Given the description of an element on the screen output the (x, y) to click on. 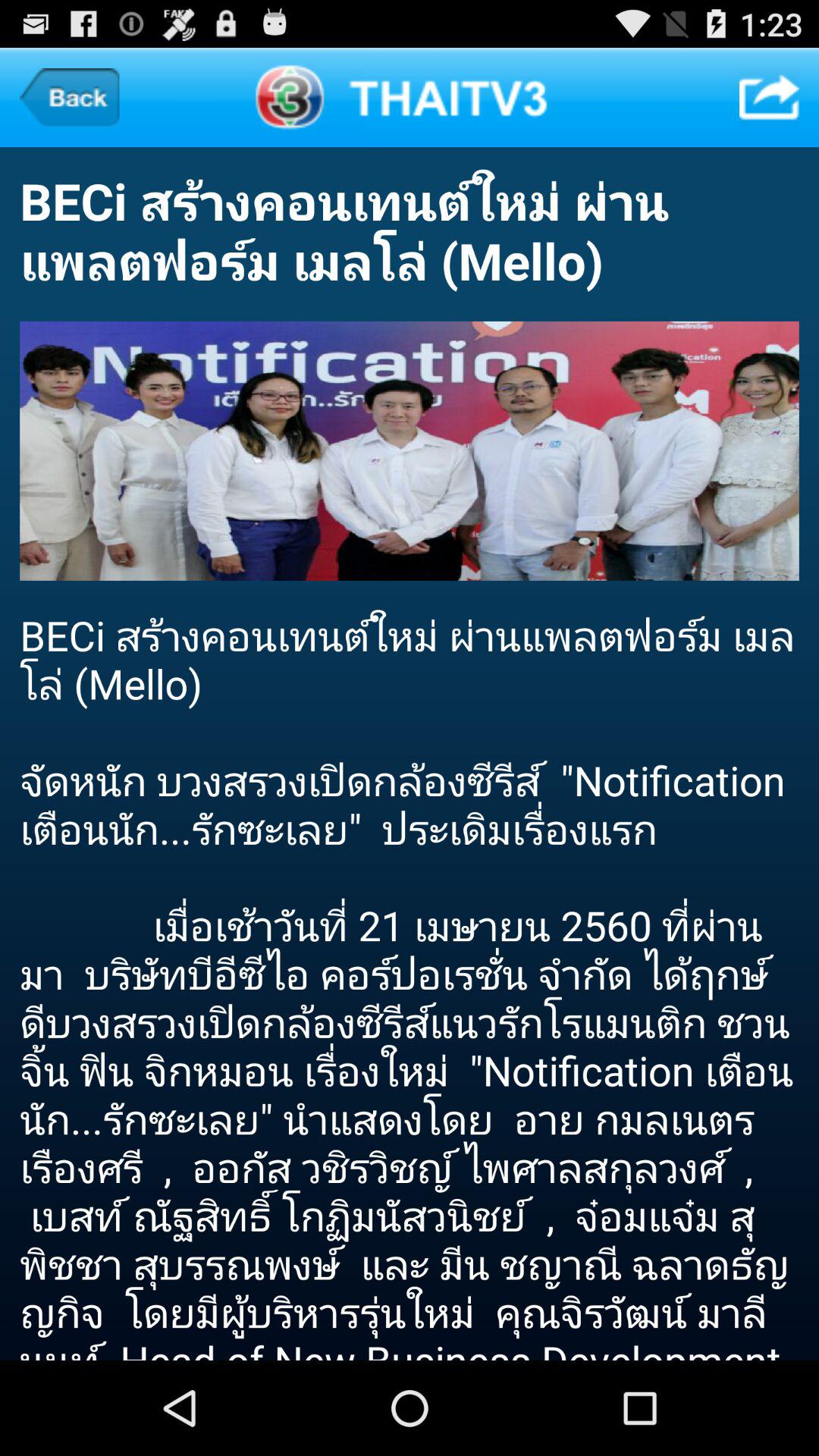
choose item at the top left corner (69, 97)
